Given the description of an element on the screen output the (x, y) to click on. 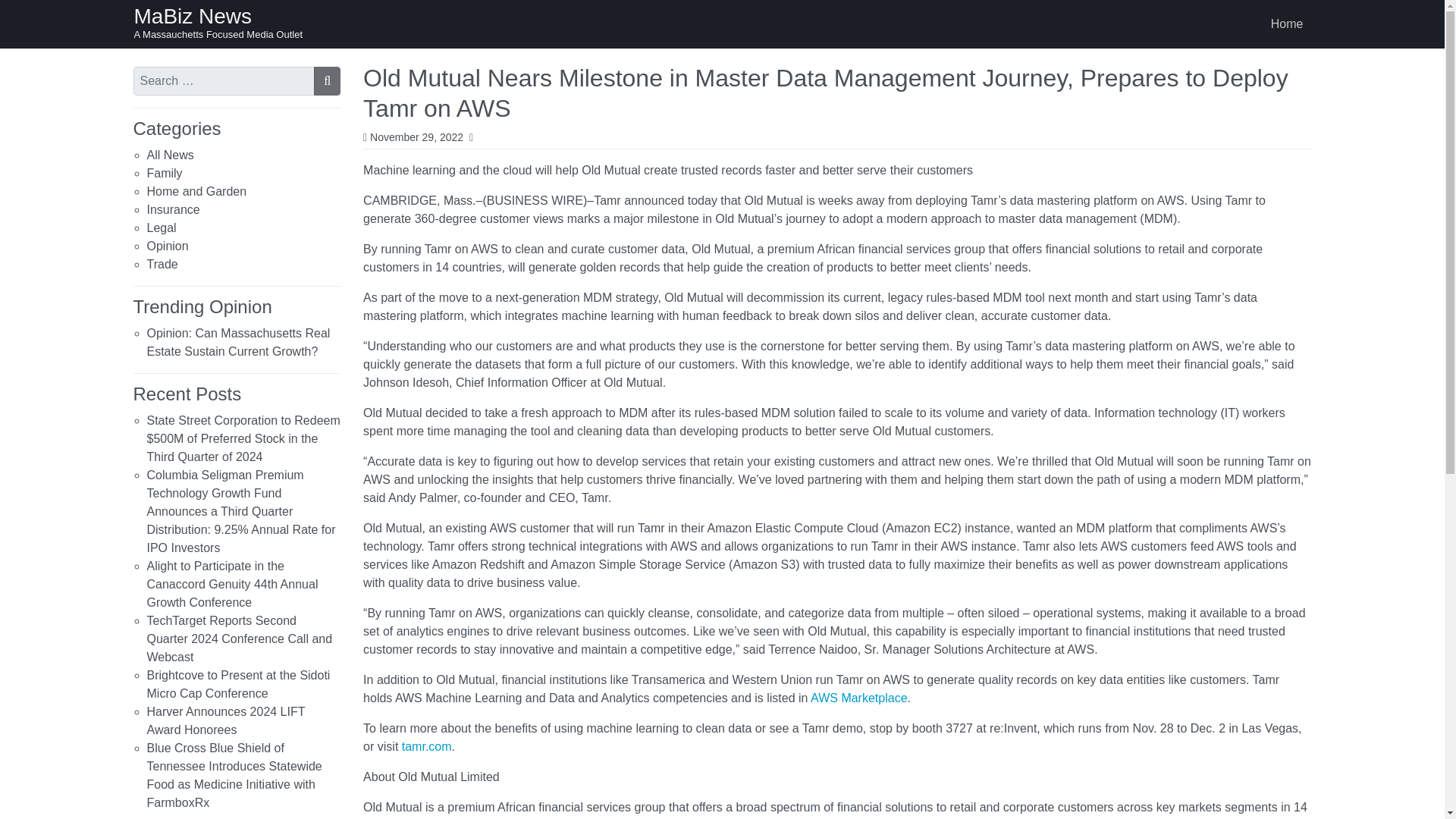
Legal (161, 227)
Family (165, 173)
Opinion (168, 245)
All News (170, 154)
Trade (162, 264)
Brightcove to Present at the Sidoti Micro Cap Conference (238, 684)
Insurance (173, 209)
Skip to content (17, 14)
